Given the description of an element on the screen output the (x, y) to click on. 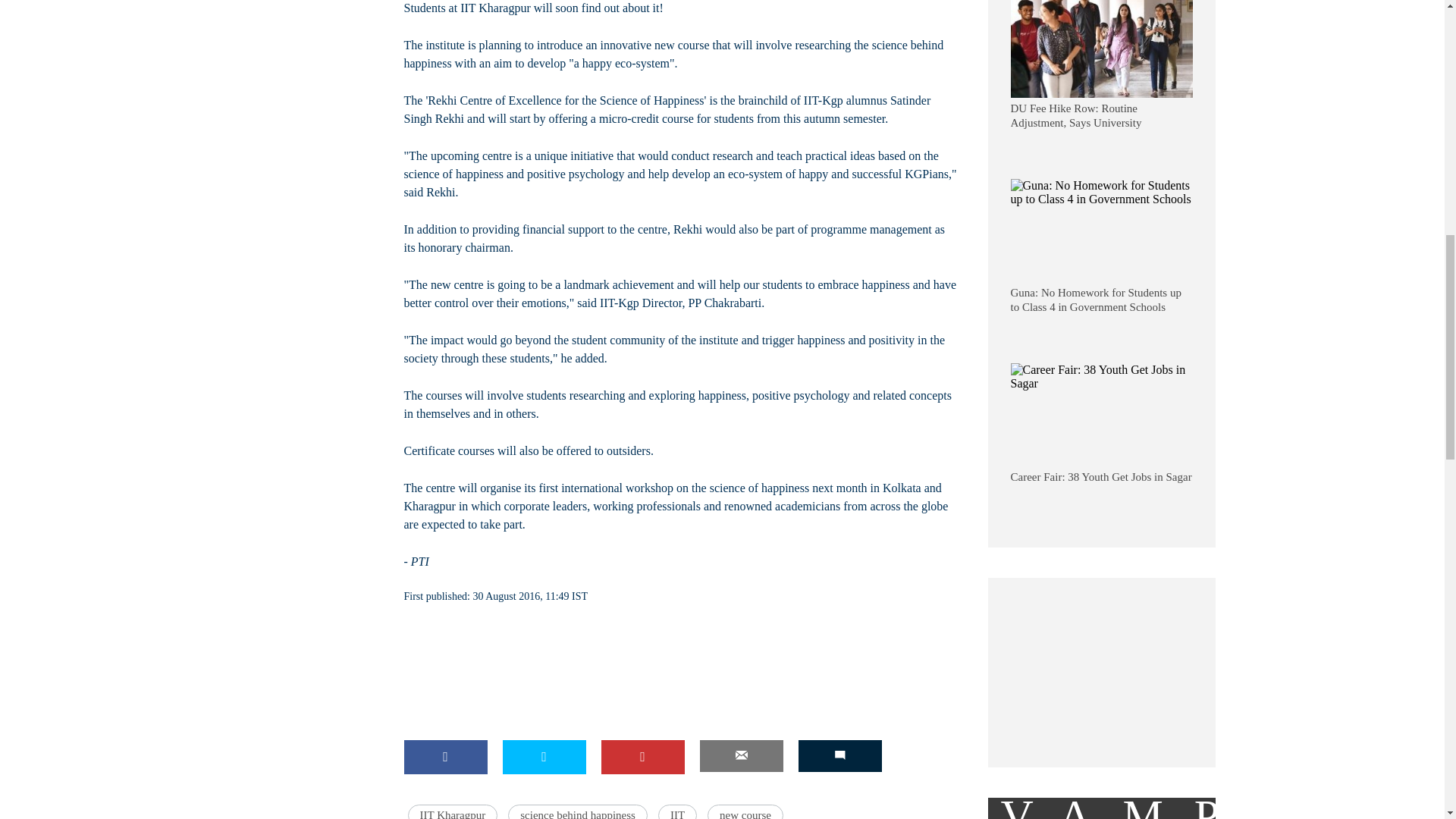
science behind happiness (577, 811)
IIT (677, 811)
IIT Kharagpur (452, 811)
new course (745, 811)
